Given the description of an element on the screen output the (x, y) to click on. 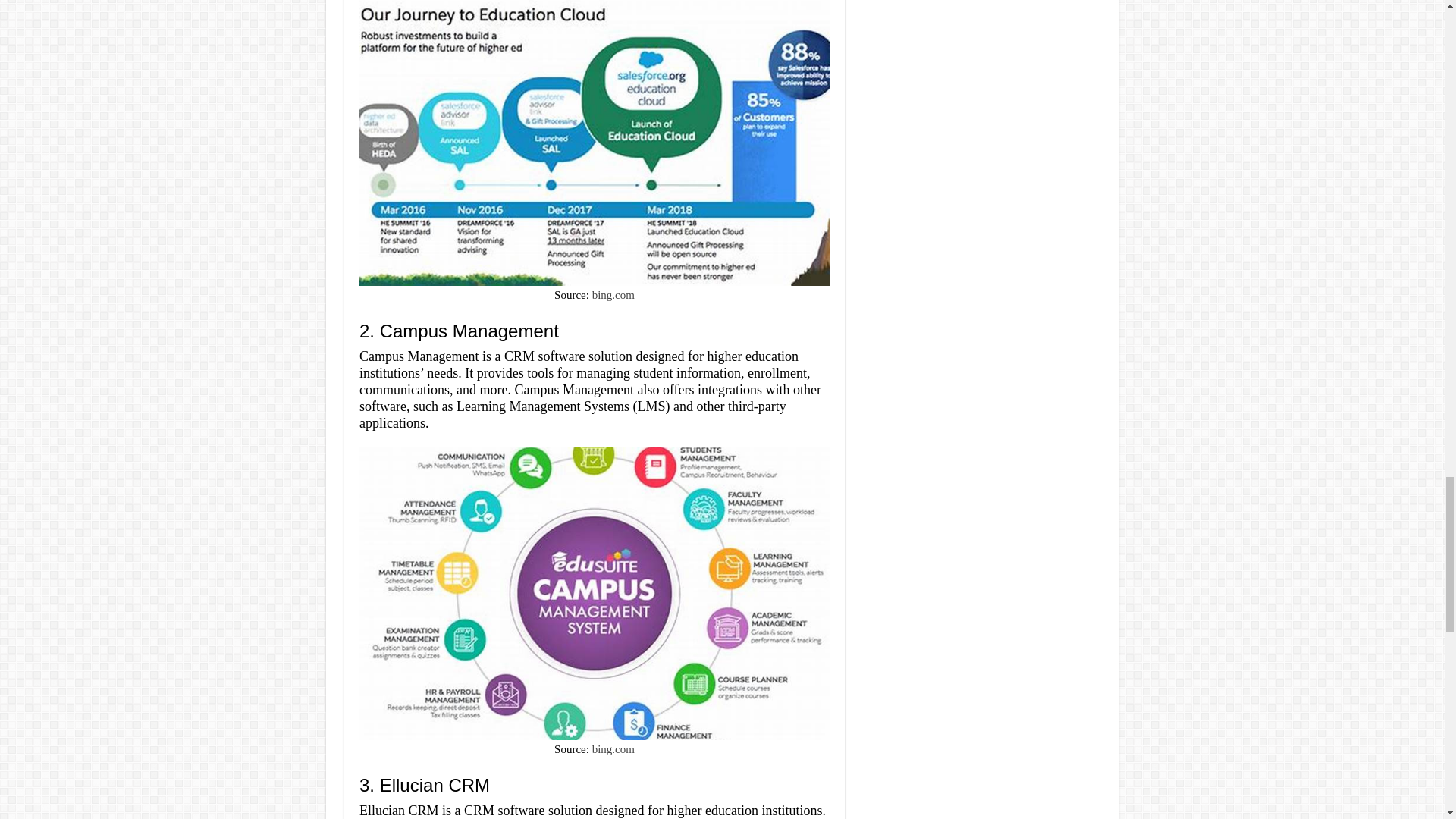
bing.com (613, 295)
bing.com (613, 748)
